Given the description of an element on the screen output the (x, y) to click on. 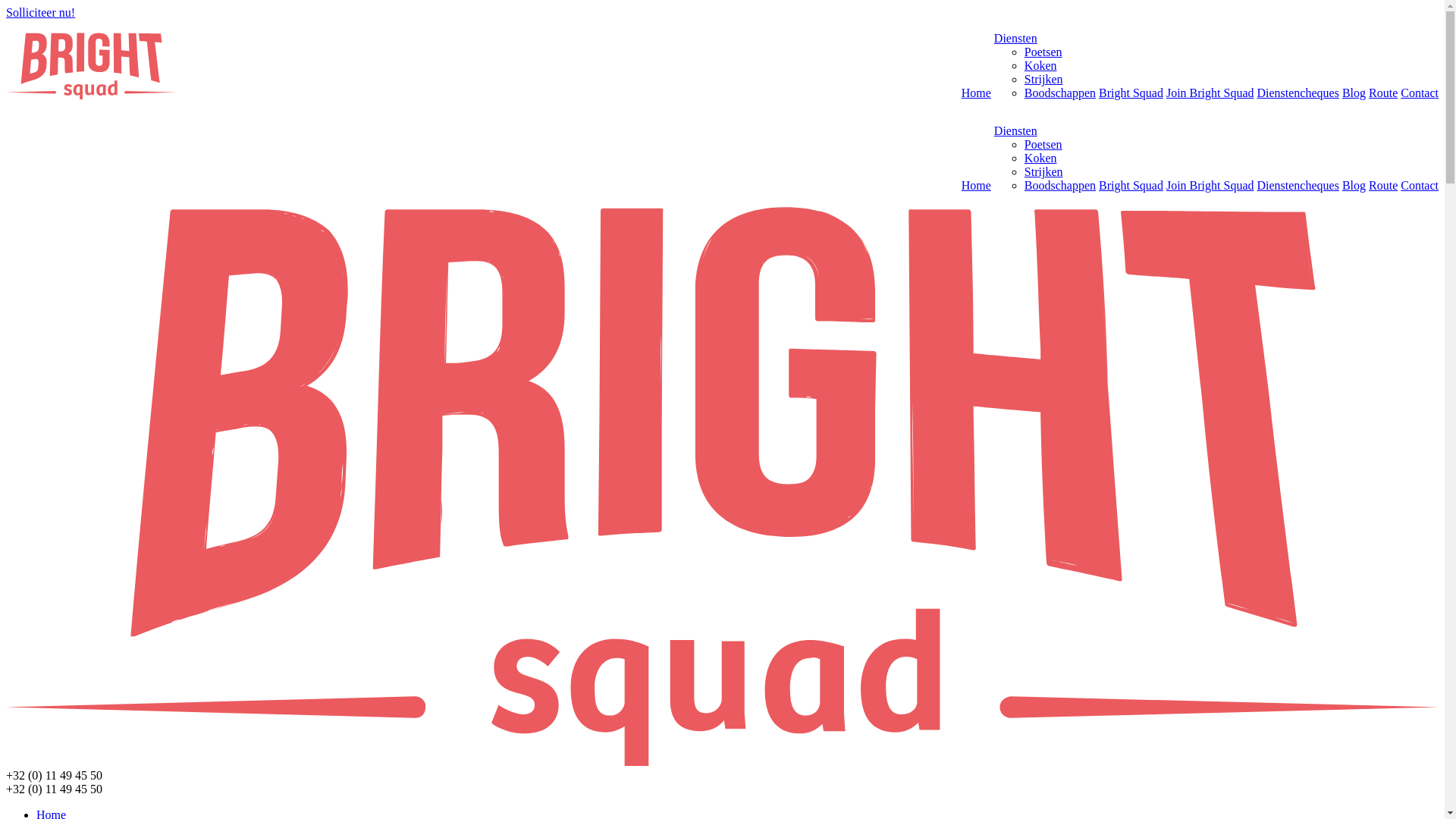
Route Element type: text (1382, 184)
Strijken Element type: text (1043, 78)
Blog Element type: text (1353, 184)
Bright Squad Element type: hover (91, 65)
Dienstencheques Element type: text (1297, 184)
Boodschappen Element type: text (1059, 184)
Koken Element type: text (1040, 157)
Home Element type: text (976, 184)
Boodschappen Element type: text (1059, 92)
Bright Squad Element type: text (1130, 184)
Diensten Element type: text (1015, 130)
Bright Squad Element type: text (1130, 92)
Blog Element type: text (1353, 92)
Contact Element type: text (1419, 184)
Strijken Element type: text (1043, 171)
Contact Element type: text (1419, 92)
Join Bright Squad Element type: text (1210, 184)
Join Bright Squad Element type: text (1210, 92)
Solliciteer nu! Element type: text (40, 12)
Poetsen Element type: text (1043, 144)
Dienstencheques Element type: text (1297, 92)
Home Element type: text (976, 92)
Poetsen Element type: text (1043, 51)
Diensten Element type: text (1015, 37)
Route Element type: text (1382, 92)
Koken Element type: text (1040, 65)
